Given the description of an element on the screen output the (x, y) to click on. 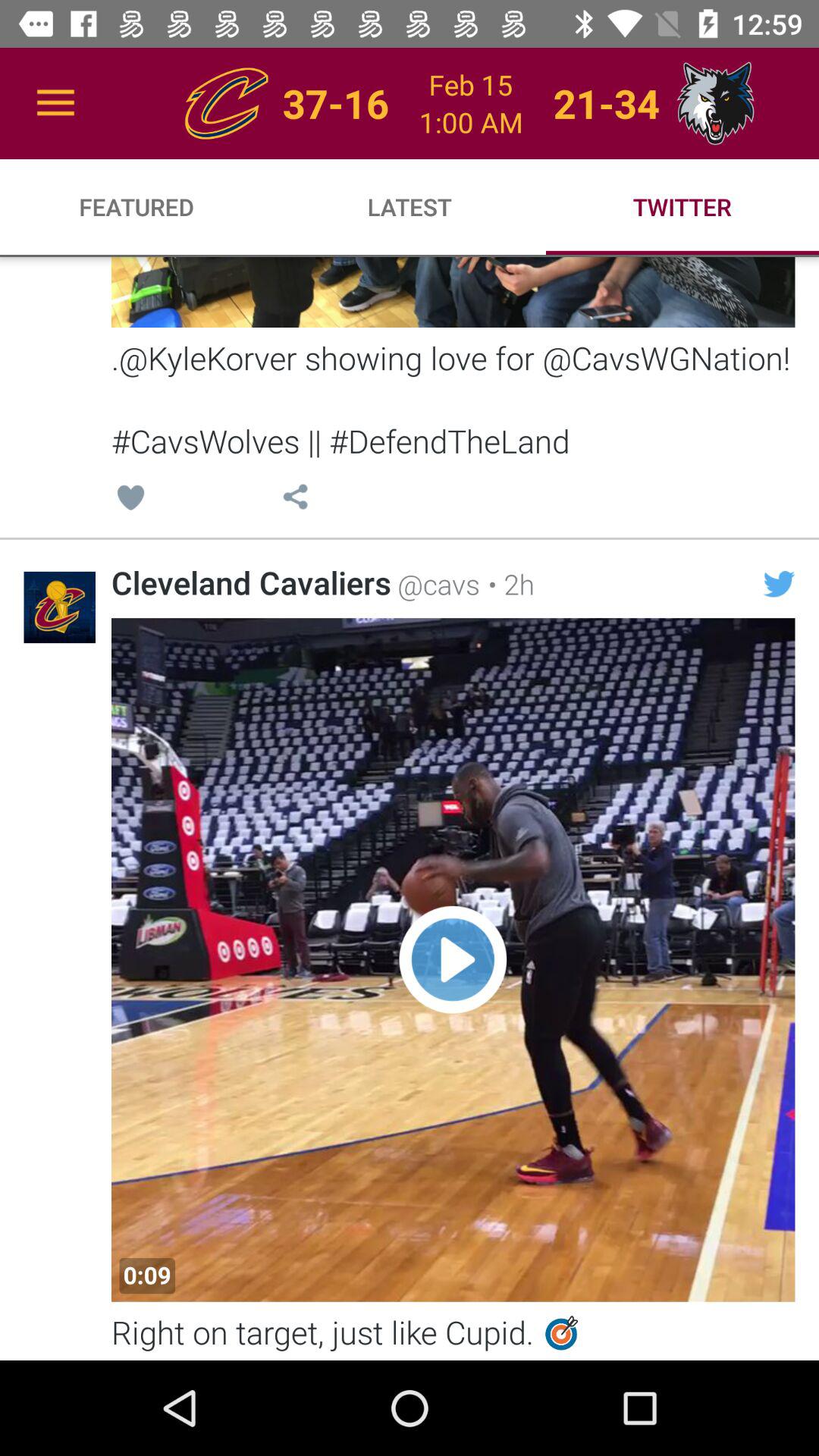
go to play (453, 959)
